Given the description of an element on the screen output the (x, y) to click on. 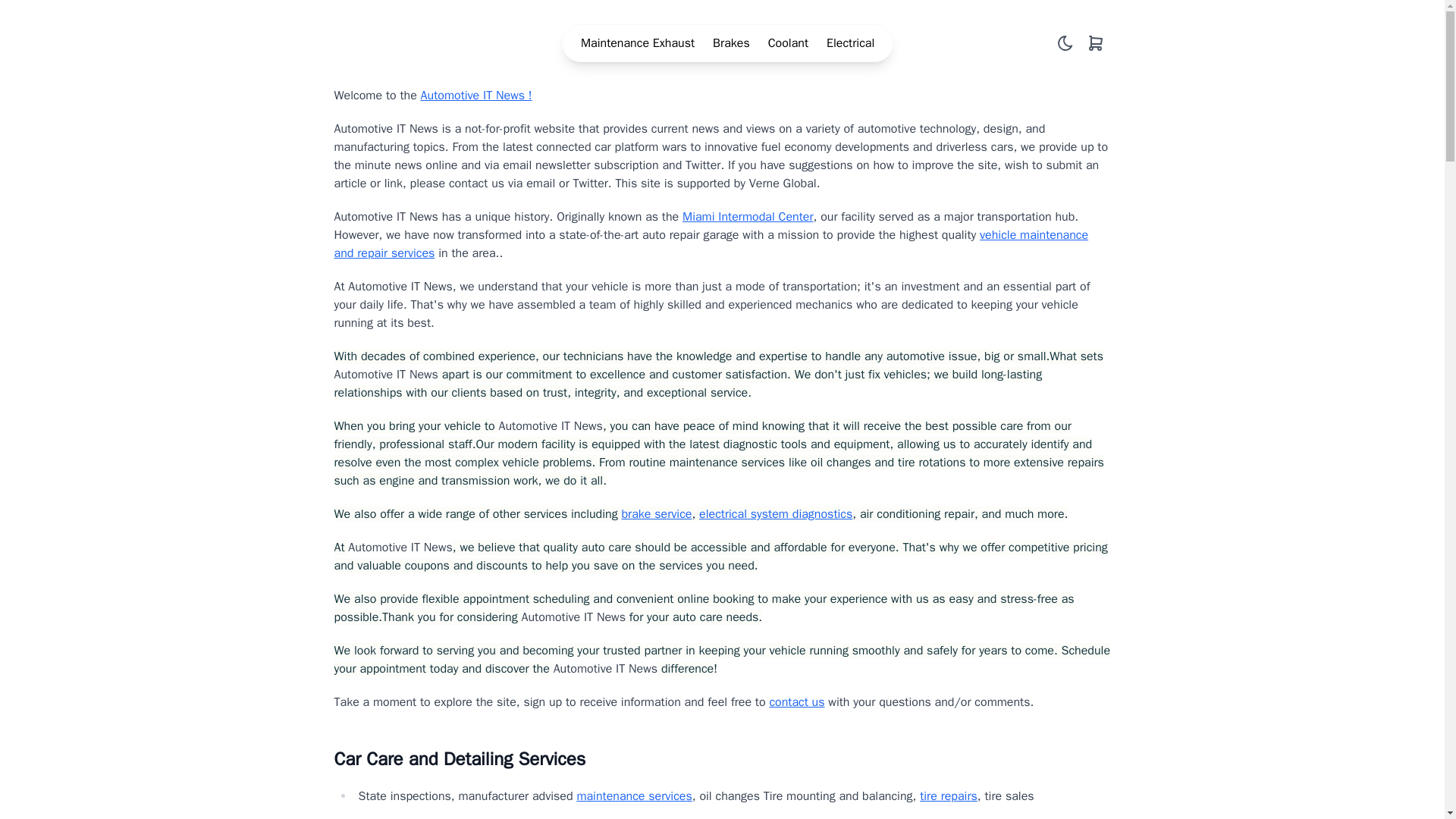
Electrical (851, 43)
Electrical (851, 43)
Automotive IT News ! (476, 95)
Miami Intermodal Center (747, 216)
contact us (796, 702)
Coolant (788, 43)
electrical system diagnostics (774, 513)
Maintenance Exhaust (637, 43)
Maintenance Exhaust (637, 43)
Coolant (788, 43)
Brakes (731, 43)
tire repairs (948, 795)
Automotive IT News - MIC Program (356, 43)
brake service (656, 513)
Brakes (731, 43)
